Given the description of an element on the screen output the (x, y) to click on. 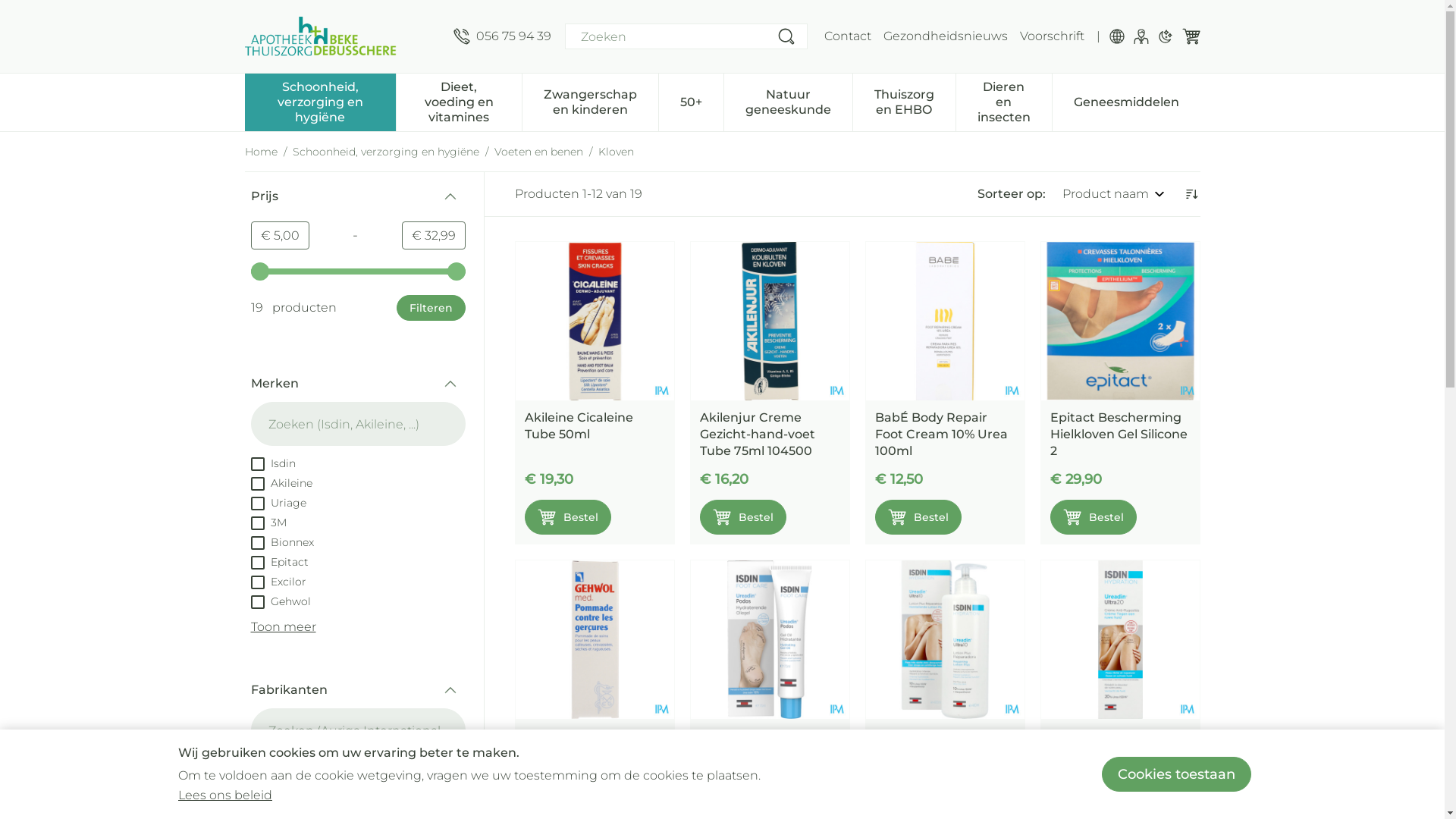
Isdin Ureadin Podos Hydraterende Oliegel 75ml Element type: text (765, 752)
056 75 94 39 Element type: text (502, 36)
Asepta (Akileine) Element type: text (304, 788)
Voorschrift Element type: text (1051, 35)
Isdin Ureadin Podos Hydraterende Oliegel 75ml Element type: hover (769, 639)
Thuiszorg en EHBO Element type: text (903, 100)
50+ Element type: text (690, 100)
Contact Element type: text (846, 35)
Bestel Element type: text (567, 516)
Geneesmiddelen Element type: text (1126, 100)
Donkere modus Element type: text (1164, 35)
Winkelwagen Element type: text (1190, 36)
Aflopende richting instellen Element type: hover (1190, 193)
on Element type: text (256, 790)
Akileine Cicaleine Tube 50ml Element type: hover (594, 320)
3M Element type: text (267, 521)
Voeten en benen Element type: text (538, 151)
Akilenjur Creme Gezicht-hand-voet Tube 75ml 104500 Element type: hover (769, 320)
on Element type: text (256, 582)
Akileine Cicaleine Tube 50ml Element type: text (578, 425)
Epitact Element type: text (278, 561)
Bestel Element type: text (742, 516)
on Element type: text (256, 523)
on Element type: text (256, 601)
Epitact Bescherming Hielkloven Gel Silicone 2 Element type: text (1117, 434)
on Element type: text (256, 503)
Urgo Element type: text (273, 808)
Dieet, voeding en vitamines Element type: text (458, 100)
Filteren Element type: text (429, 307)
Auriga International - ISDIN Element type: text (333, 769)
Toon meer Element type: text (282, 626)
on Element type: text (256, 770)
Home Element type: text (260, 151)
Natuur geneeskunde Element type: text (787, 100)
Apotheek Beke-Debusschere Element type: hover (342, 36)
Excilor Element type: text (277, 581)
Gezondheidsnieuws Element type: text (944, 35)
Gehwol Med Klovenzalf Tube 75ml 11140105 Element type: text (589, 752)
Gehwol Element type: text (280, 600)
Isdin Ureadin Ultra 20 Cream 100ml Element type: hover (1119, 639)
Klant menu Element type: text (1140, 35)
on Element type: text (256, 542)
Isdin Ureadin Ultra 20 Cream 100ml Element type: text (1116, 743)
Gehwol Med Klovenzalf Tube 75ml 11140105 Element type: hover (594, 639)
Apotheek Beke-Debusschere Element type: hover (319, 35)
on Element type: text (256, 562)
Akileine Element type: text (280, 482)
on Element type: text (256, 463)
Zoeken Element type: text (785, 36)
Lees ons beleid Element type: text (225, 794)
Isdin Ureadin Ultra 10 Lotion 400ml Element type: text (941, 743)
Zwangerschap en kinderen Element type: text (589, 100)
Bestel Element type: text (1092, 516)
Cookies toestaan Element type: text (1176, 773)
on Element type: text (256, 483)
on Element type: text (256, 809)
Epitact Bescherming Hielkloven Gel Silicone 2 Element type: hover (1119, 320)
Bestel Element type: text (918, 516)
Isdin Element type: text (272, 462)
Dieren en insecten Element type: text (1003, 100)
Isdin Ureadin Ultra 10 Lotion 400ml Element type: hover (945, 639)
Uriage Element type: text (277, 502)
Bionnex Element type: text (281, 541)
Talen Element type: text (1115, 35)
Akilenjur Creme Gezicht-hand-voet Tube 75ml 104500 Element type: text (756, 434)
